Given the description of an element on the screen output the (x, y) to click on. 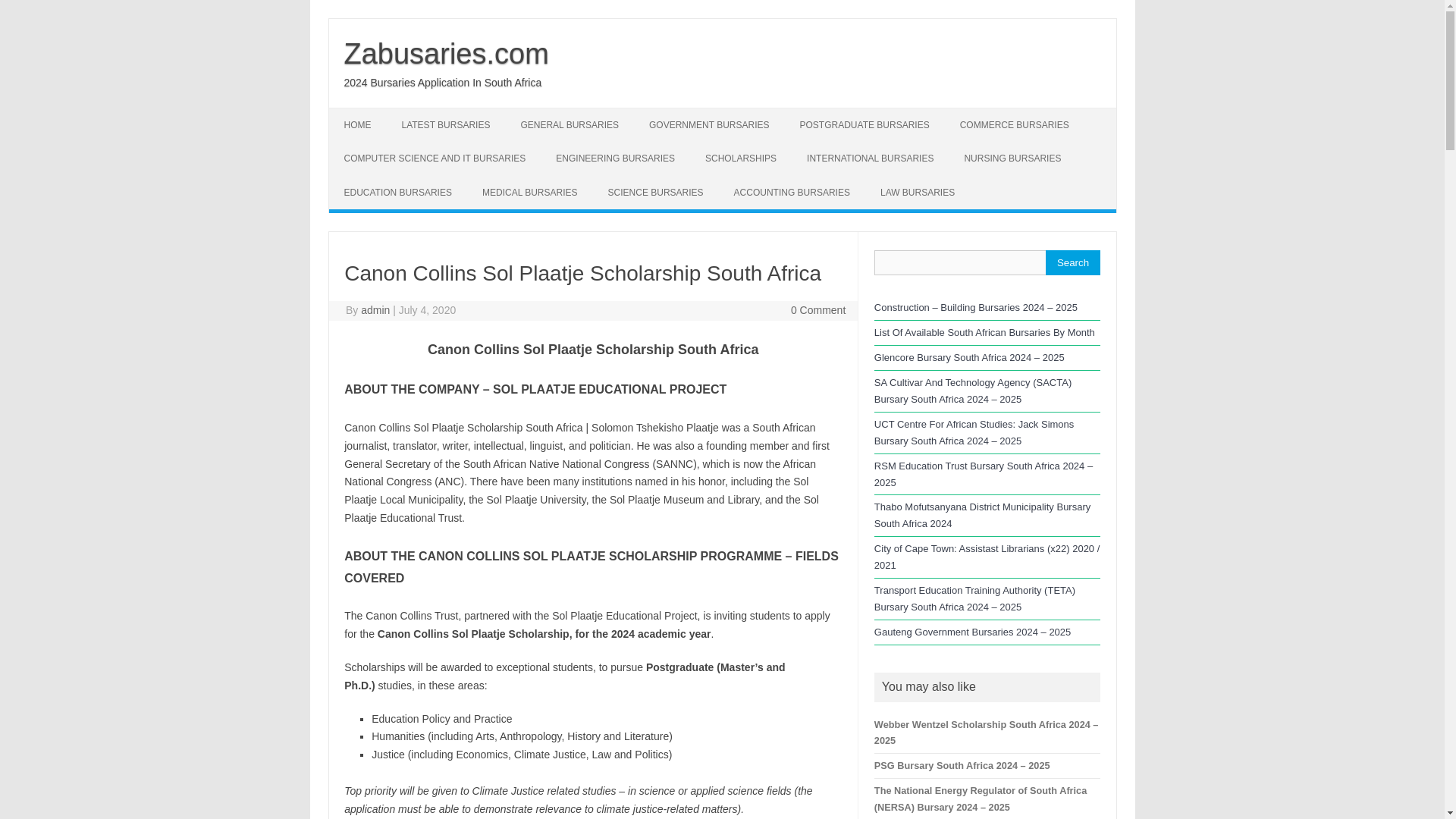
LAW BURSARIES (916, 192)
SCIENCE BURSARIES (655, 192)
POSTGRADUATE BURSARIES (864, 124)
Zabusaries.com (445, 53)
Search (1072, 262)
admin (375, 309)
EDUCATION BURSARIES (398, 192)
INTERNATIONAL BURSARIES (870, 158)
ENGINEERING BURSARIES (615, 158)
Zabusaries.com (445, 53)
MEDICAL BURSARIES (529, 192)
SCHOLARSHIPS (741, 158)
0 Comment (817, 309)
LATEST BURSARIES (446, 124)
